Given the description of an element on the screen output the (x, y) to click on. 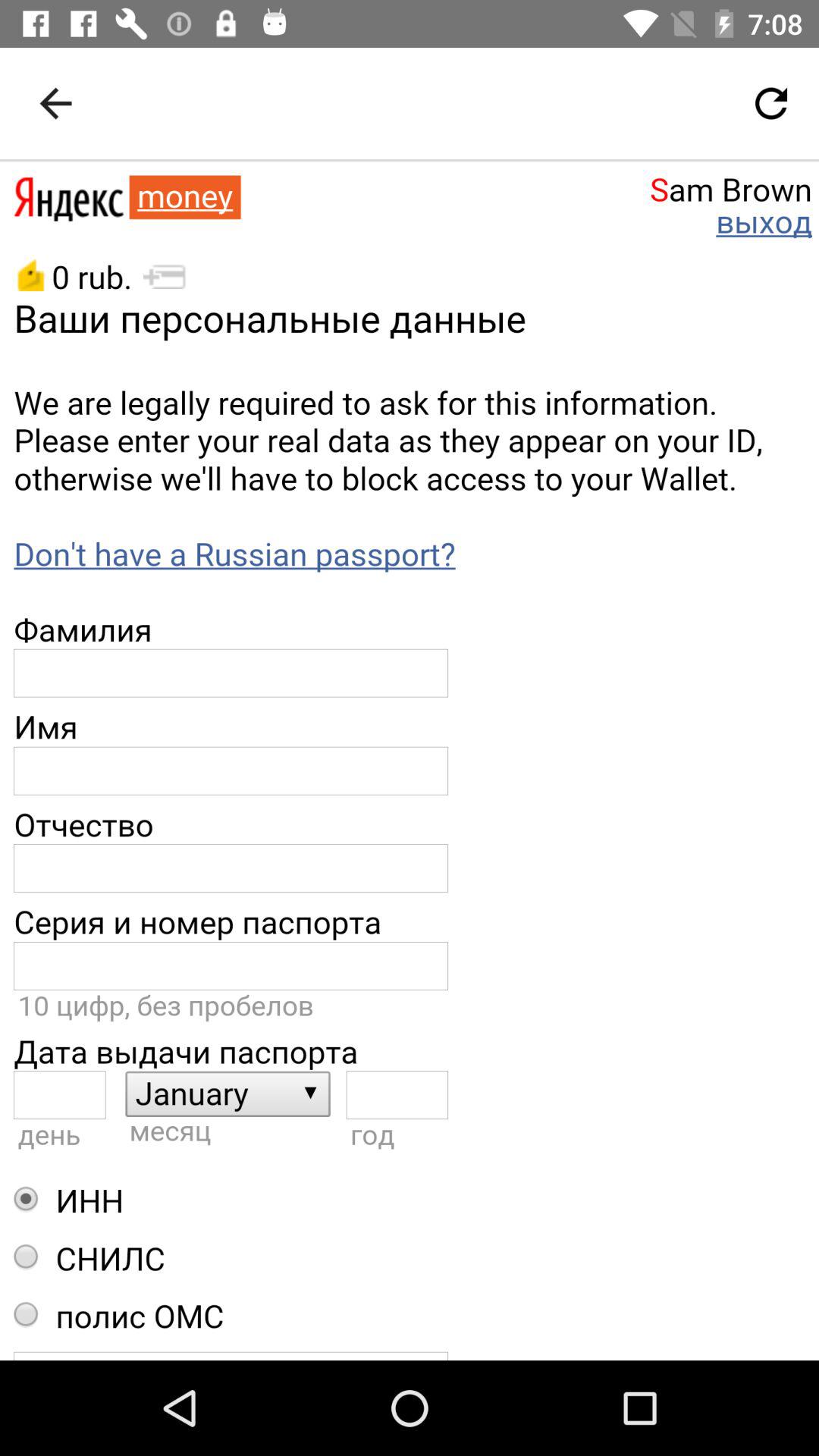
description (409, 760)
